Given the description of an element on the screen output the (x, y) to click on. 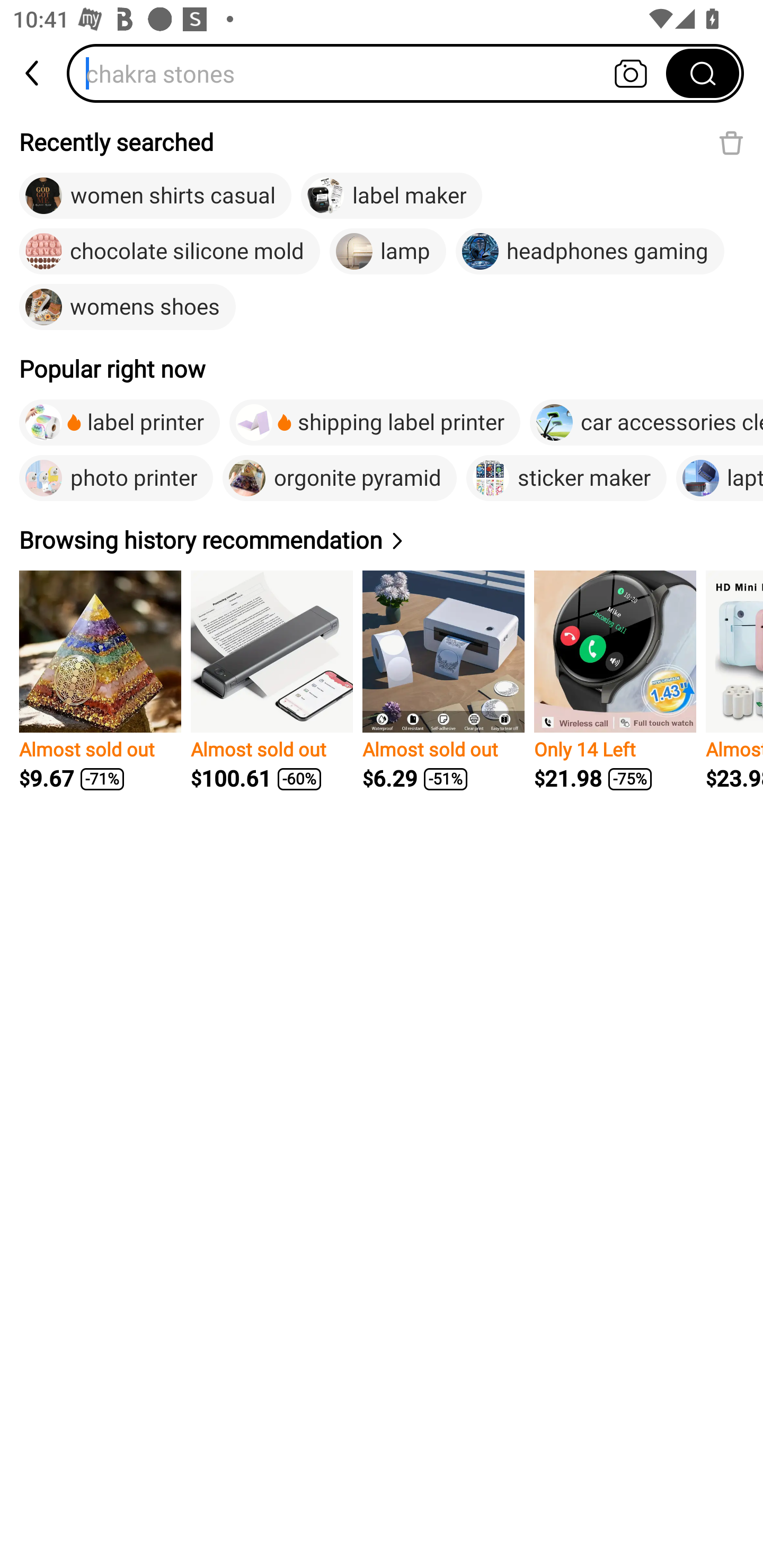
back (33, 72)
chakra stones (372, 73)
Search by photo (630, 73)
Delete recent search (731, 142)
women shirts casual (155, 195)
label maker (391, 195)
chocolate silicone mold (169, 251)
lamp (387, 251)
headphones gaming (589, 251)
womens shoes (127, 306)
label printer (119, 422)
shipping label printer (374, 422)
car accessories clearance (646, 422)
photo printer (115, 477)
orgonite pyramid (339, 477)
sticker maker (566, 477)
laptops on sale clearance (719, 477)
Browsing history recommendation (213, 540)
Almost sold out $9.67 -71% (100, 680)
Almost sold out $100.61 -60% (271, 680)
Almost sold out $6.29 -51% (443, 680)
Only 14 Left $21.98 -75% (614, 680)
